Given the description of an element on the screen output the (x, y) to click on. 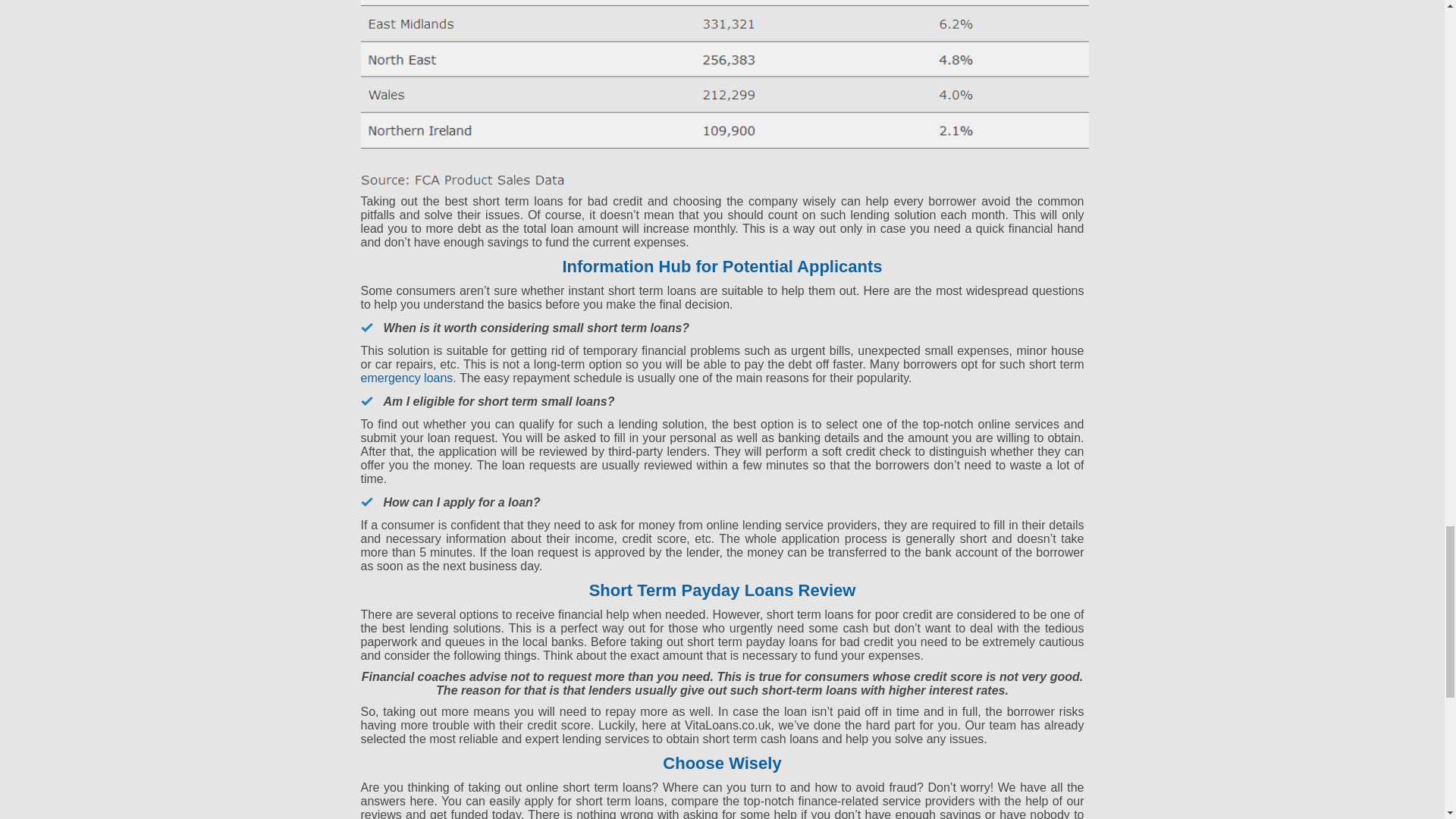
best emergency loans UK (406, 377)
emergency loans (406, 377)
